Given the description of an element on the screen output the (x, y) to click on. 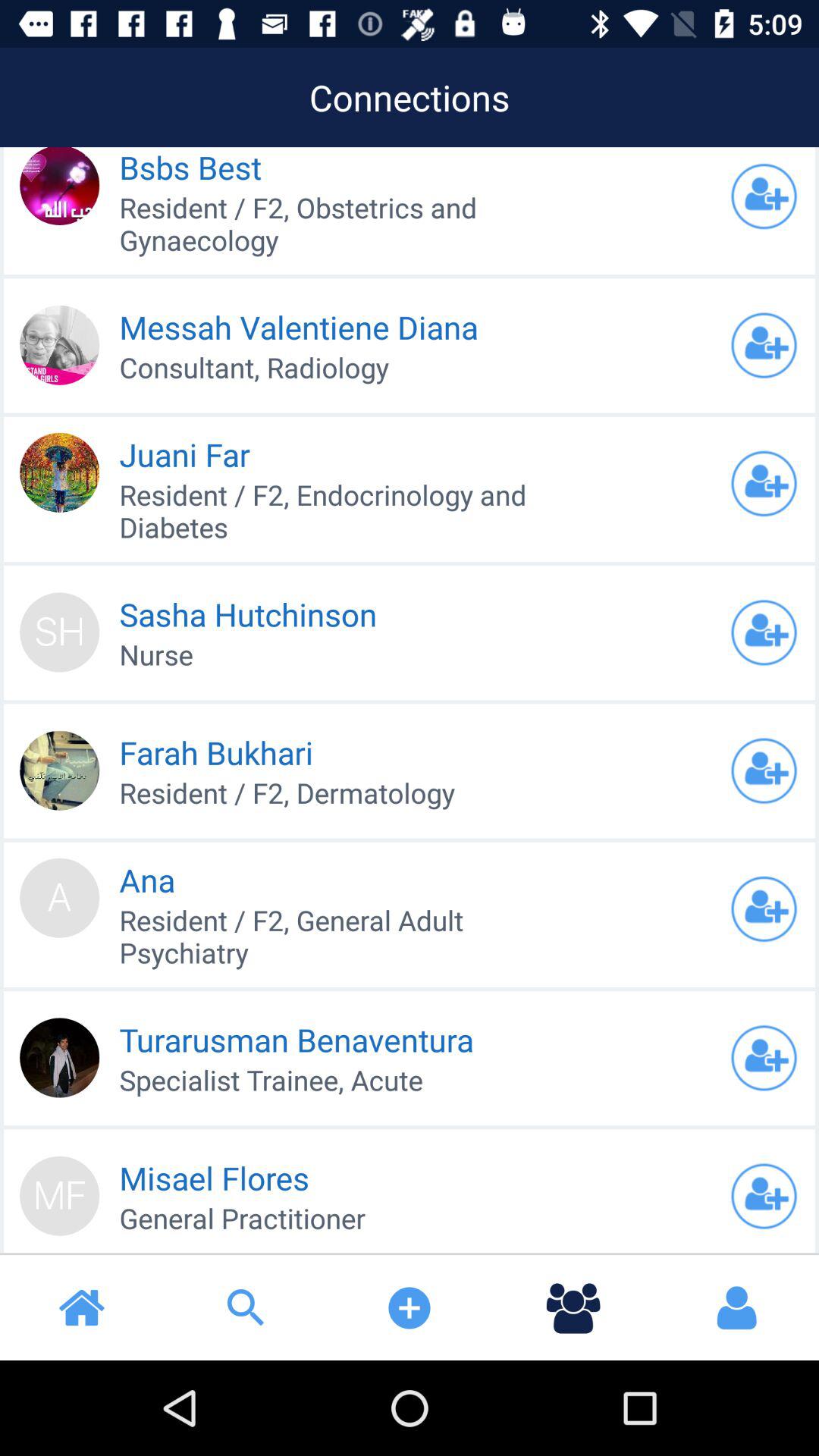
follow this user (764, 196)
